Given the description of an element on the screen output the (x, y) to click on. 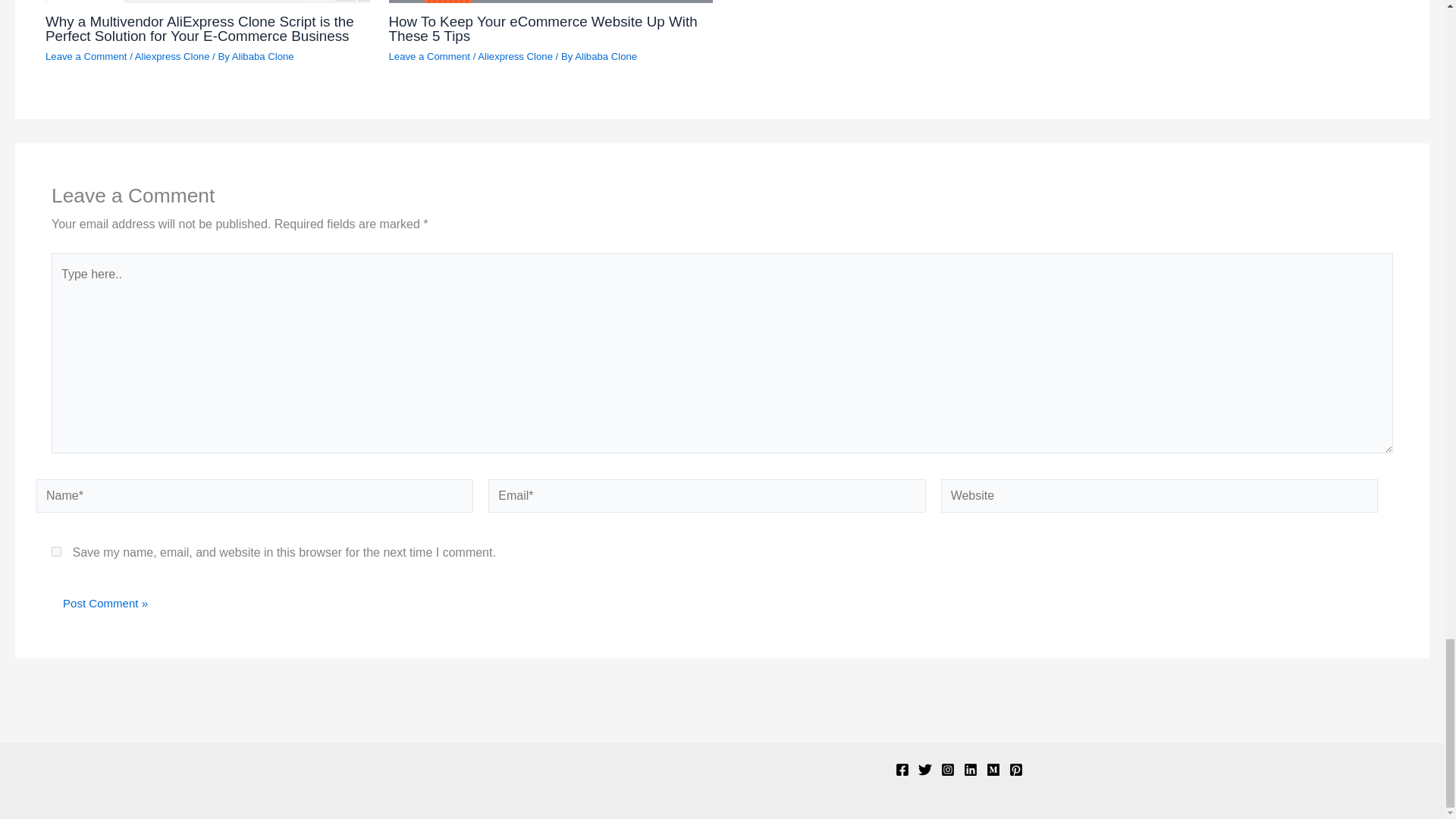
Aliexpress Clone (515, 56)
Leave a Comment (429, 56)
View all posts by Alibaba Clone (606, 56)
Alibaba Clone (606, 56)
Alibaba Clone (262, 56)
Leave a Comment (86, 56)
yes (55, 551)
How To Keep Your eCommerce Website Up With These 5 Tips (542, 28)
Aliexpress Clone (172, 56)
View all posts by Alibaba Clone (262, 56)
